Given the description of an element on the screen output the (x, y) to click on. 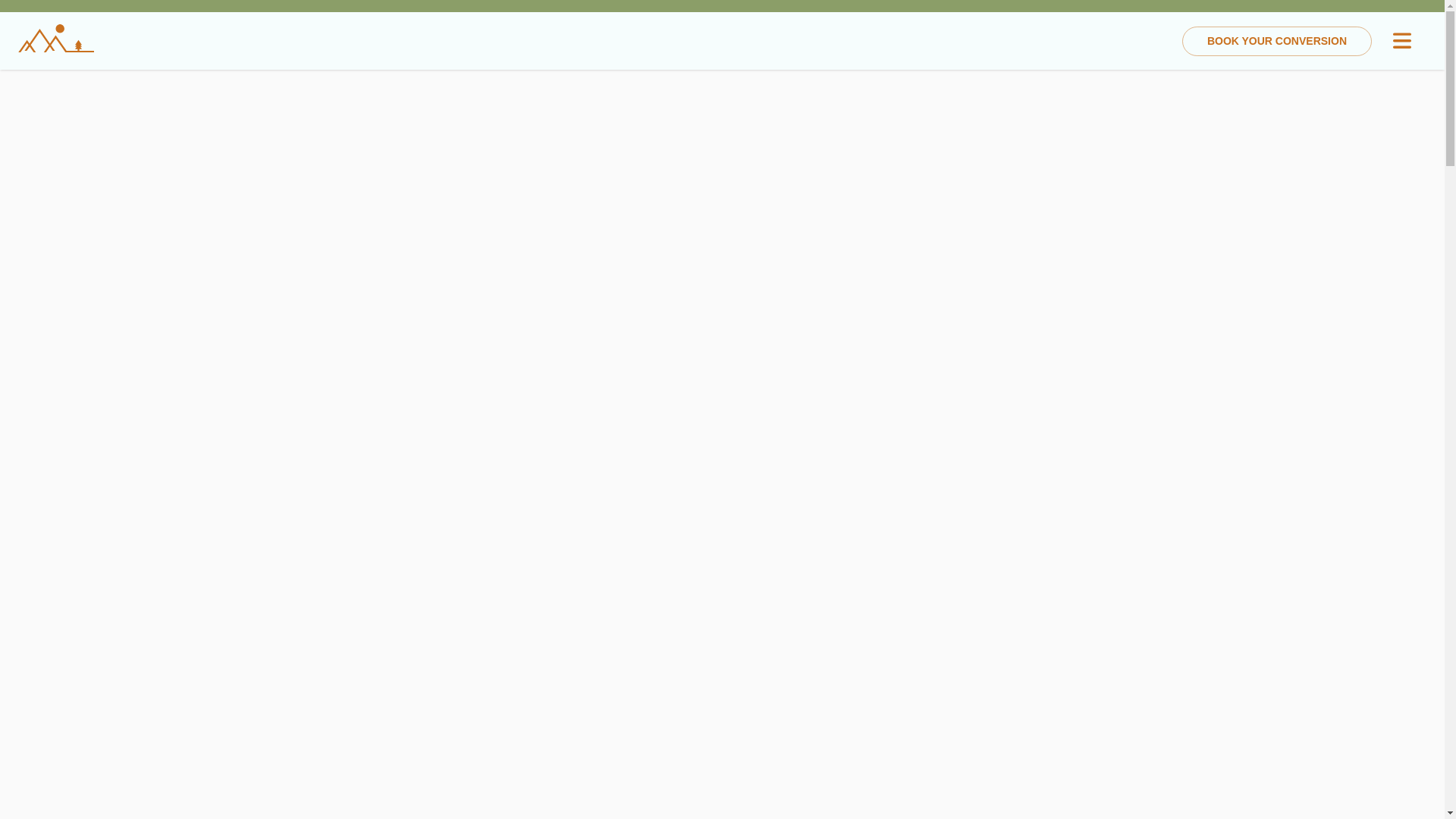
BOOK YOUR CONVERSION (1276, 41)
